Given the description of an element on the screen output the (x, y) to click on. 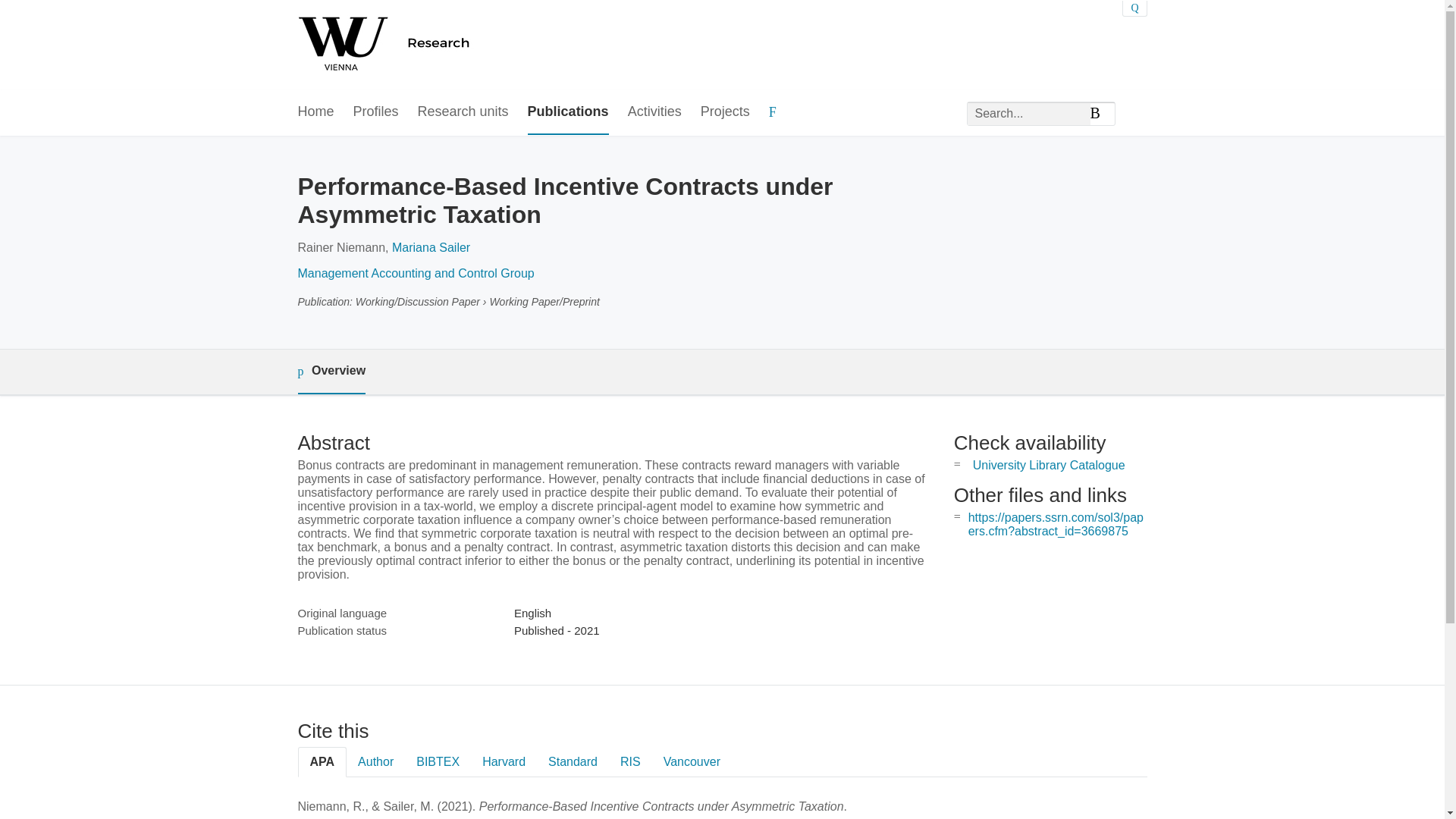
Research units (462, 112)
Overview (331, 371)
Management Accounting and Control Group (415, 273)
Publications (567, 112)
Mariana Sailer (430, 246)
Activities (654, 112)
WU Vienna University of Economics and Business Home (448, 45)
University Library Catalogue (1048, 464)
Projects (724, 112)
Profiles (375, 112)
